Given the description of an element on the screen output the (x, y) to click on. 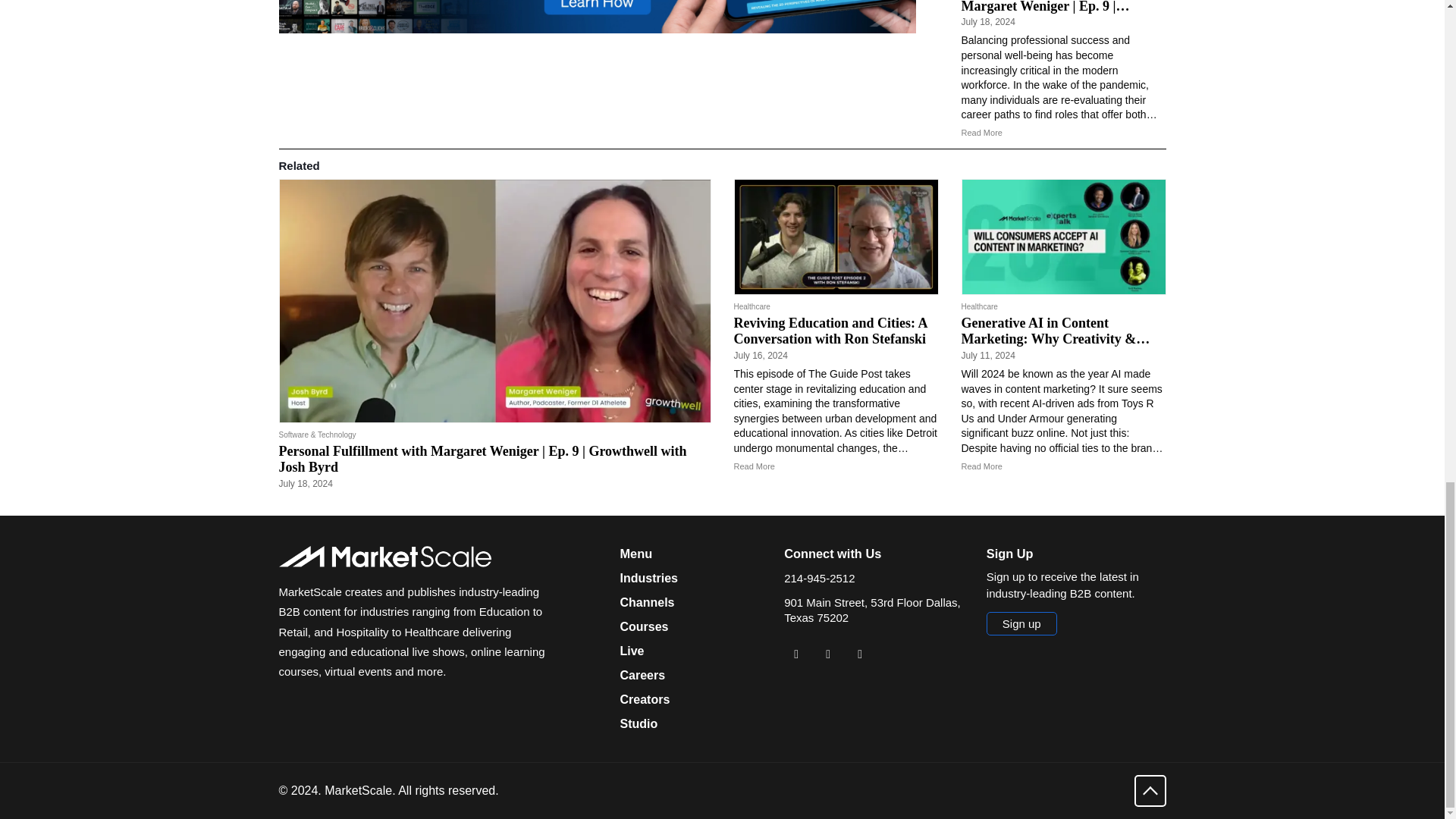
Share on Instagram (859, 654)
Share on X (827, 654)
Share on Linkedin (796, 654)
